Given the description of an element on the screen output the (x, y) to click on. 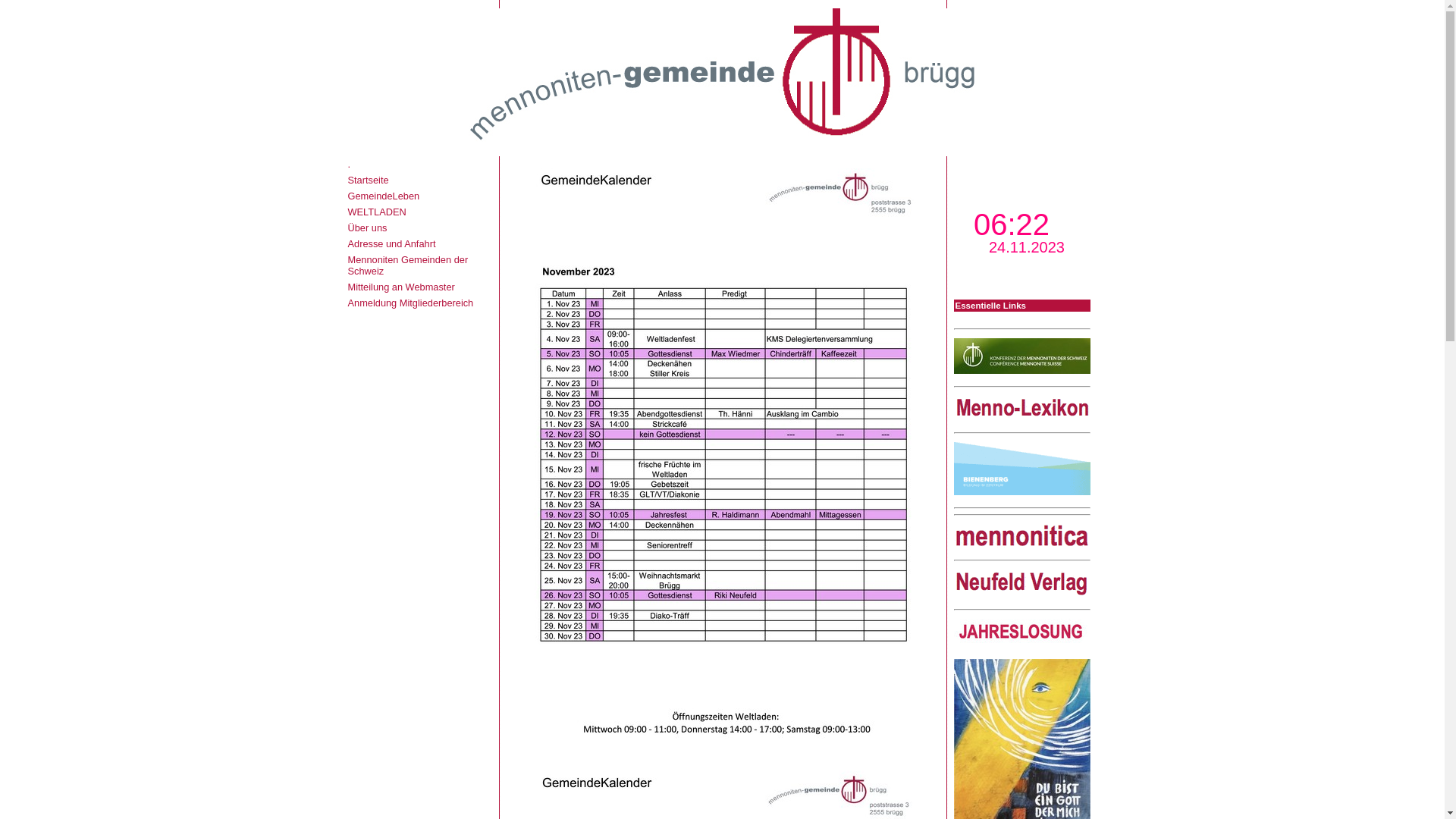
WELTLADEN Element type: text (376, 211)
Startseite Element type: text (367, 179)
GemeindeLeben Element type: text (383, 195)
Anmeldung Mitgliederbereich Element type: text (410, 302)
Adresse und Anfahrt Element type: text (391, 243)
Mitteilung an Webmaster Element type: text (400, 286)
. Element type: text (348, 163)
Mennoniten Gemeinden der Schweiz Element type: text (407, 265)
